Given the description of an element on the screen output the (x, y) to click on. 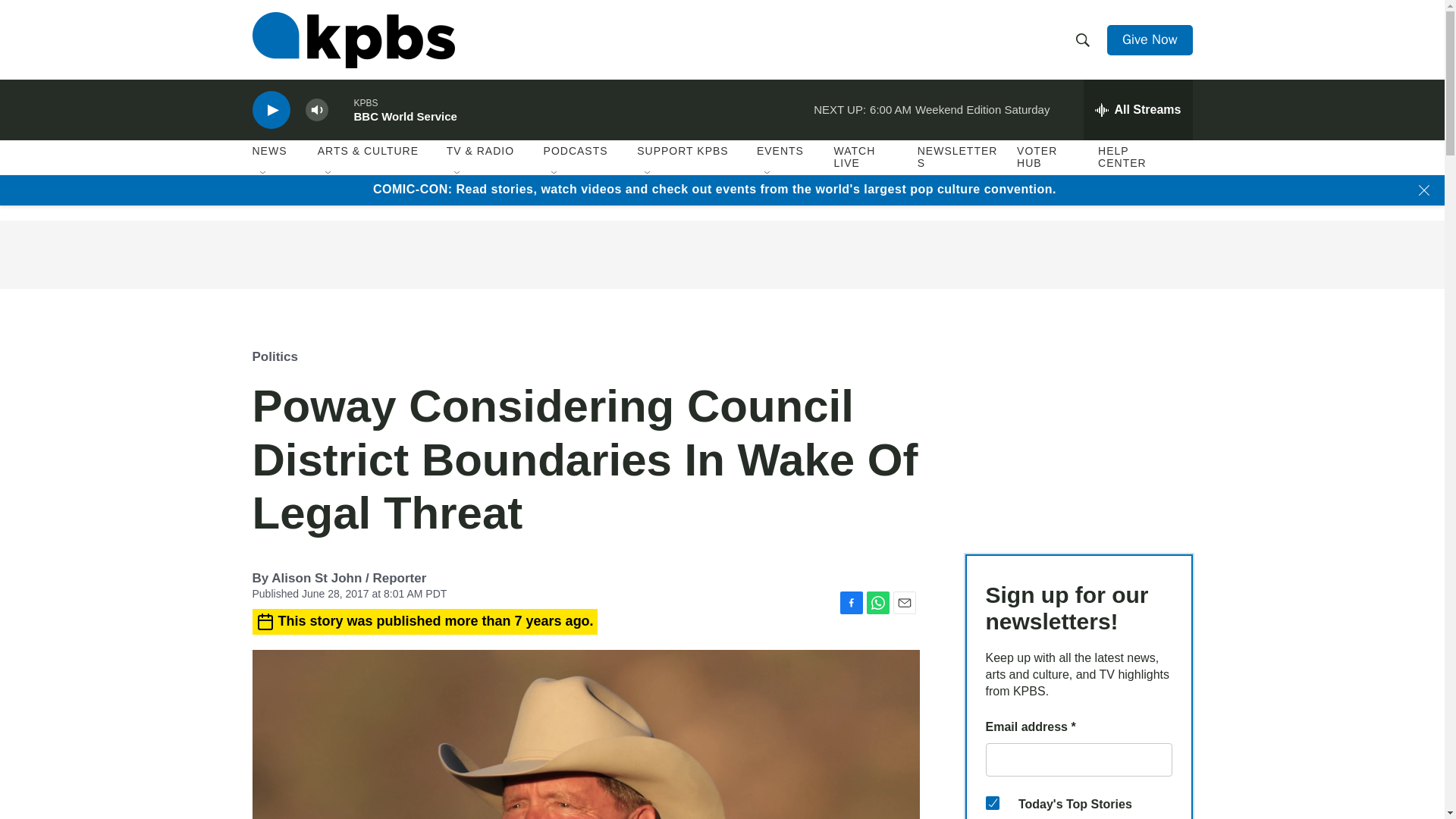
4 (991, 802)
3rd party ad content (721, 254)
3rd party ad content (1077, 429)
